Given the description of an element on the screen output the (x, y) to click on. 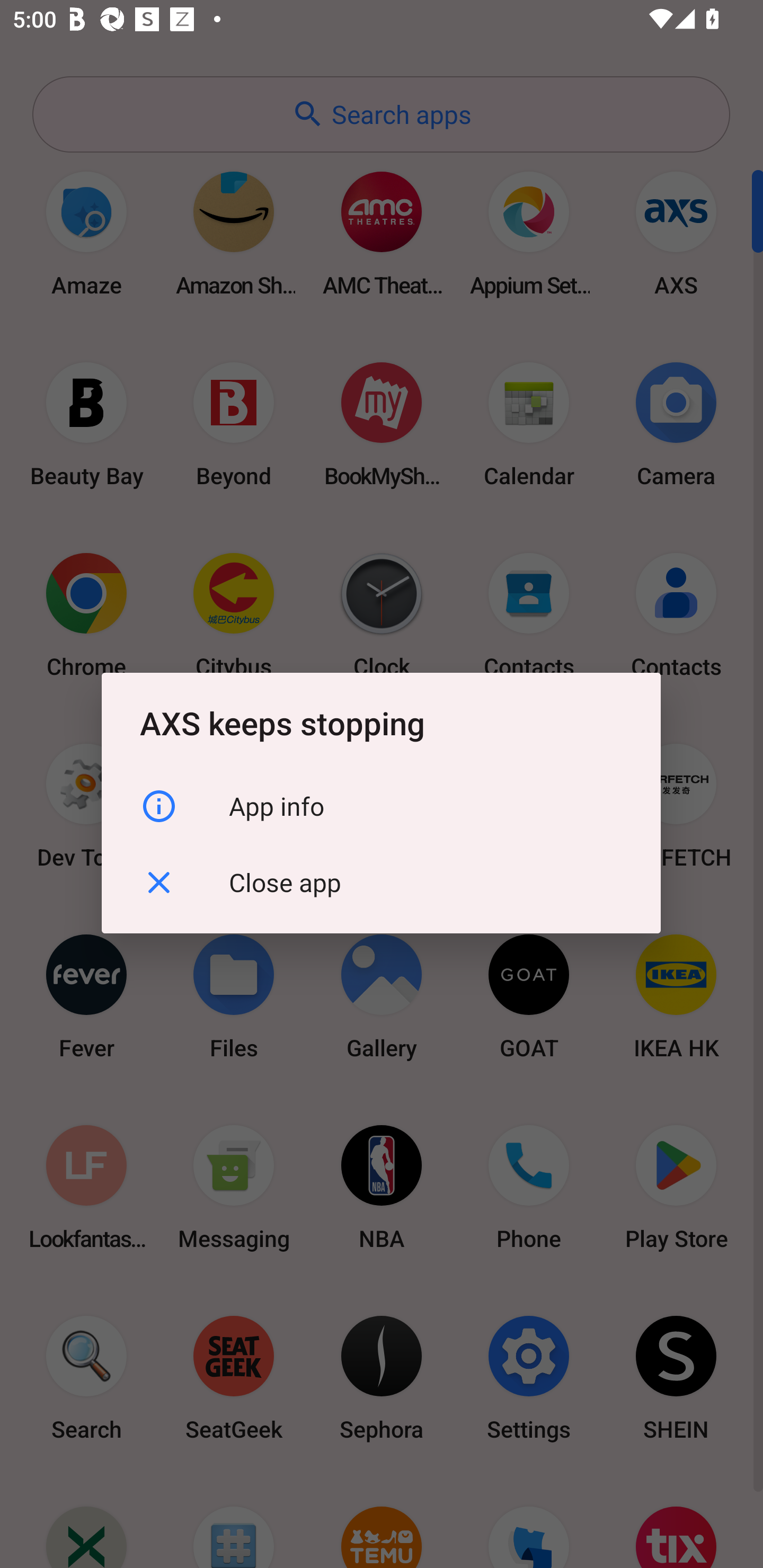
App info (380, 806)
Close app (380, 882)
